Given the description of an element on the screen output the (x, y) to click on. 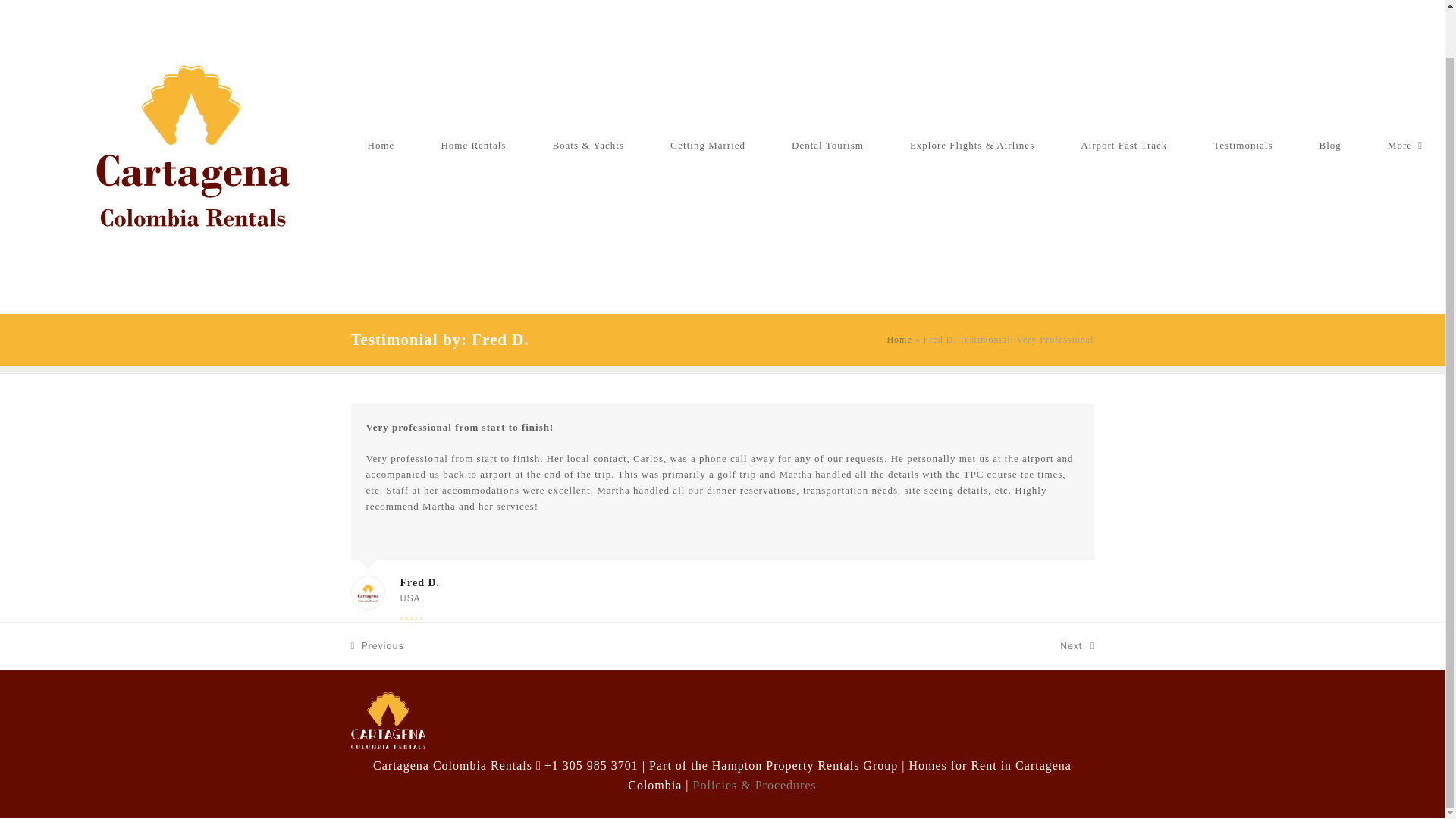
Getting Married (377, 645)
Testimonials (707, 144)
More (1242, 144)
Property Search by Dates (1404, 144)
Home (1076, 645)
Dental Tourism (473, 144)
Home Rentals (381, 144)
Airport Fast Track (827, 144)
